Given the description of an element on the screen output the (x, y) to click on. 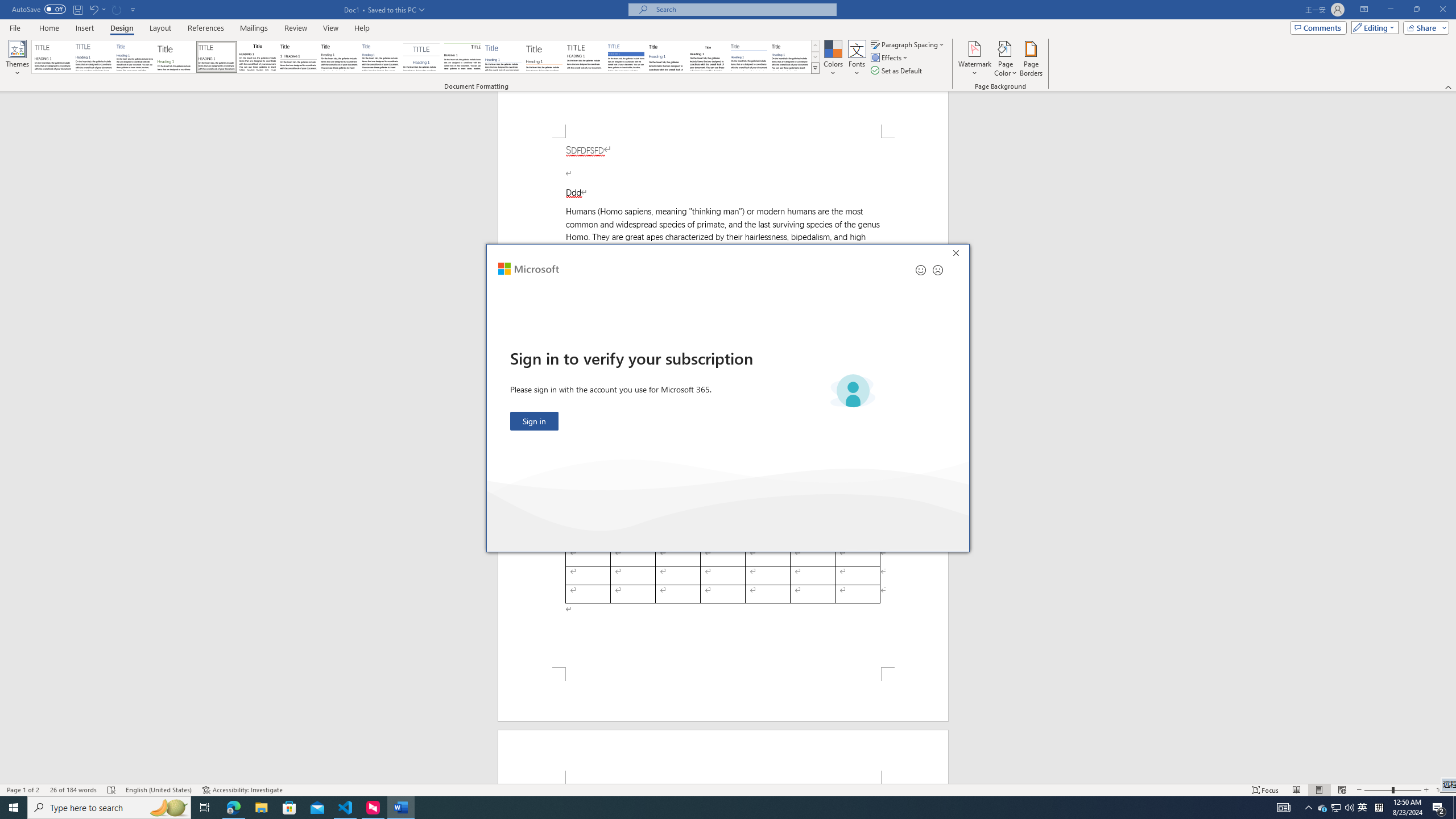
Sign in (534, 420)
Can't Repeat (117, 9)
Microsoft Store (289, 807)
Shaded (625, 56)
Document (52, 56)
Word (666, 56)
